Given the description of an element on the screen output the (x, y) to click on. 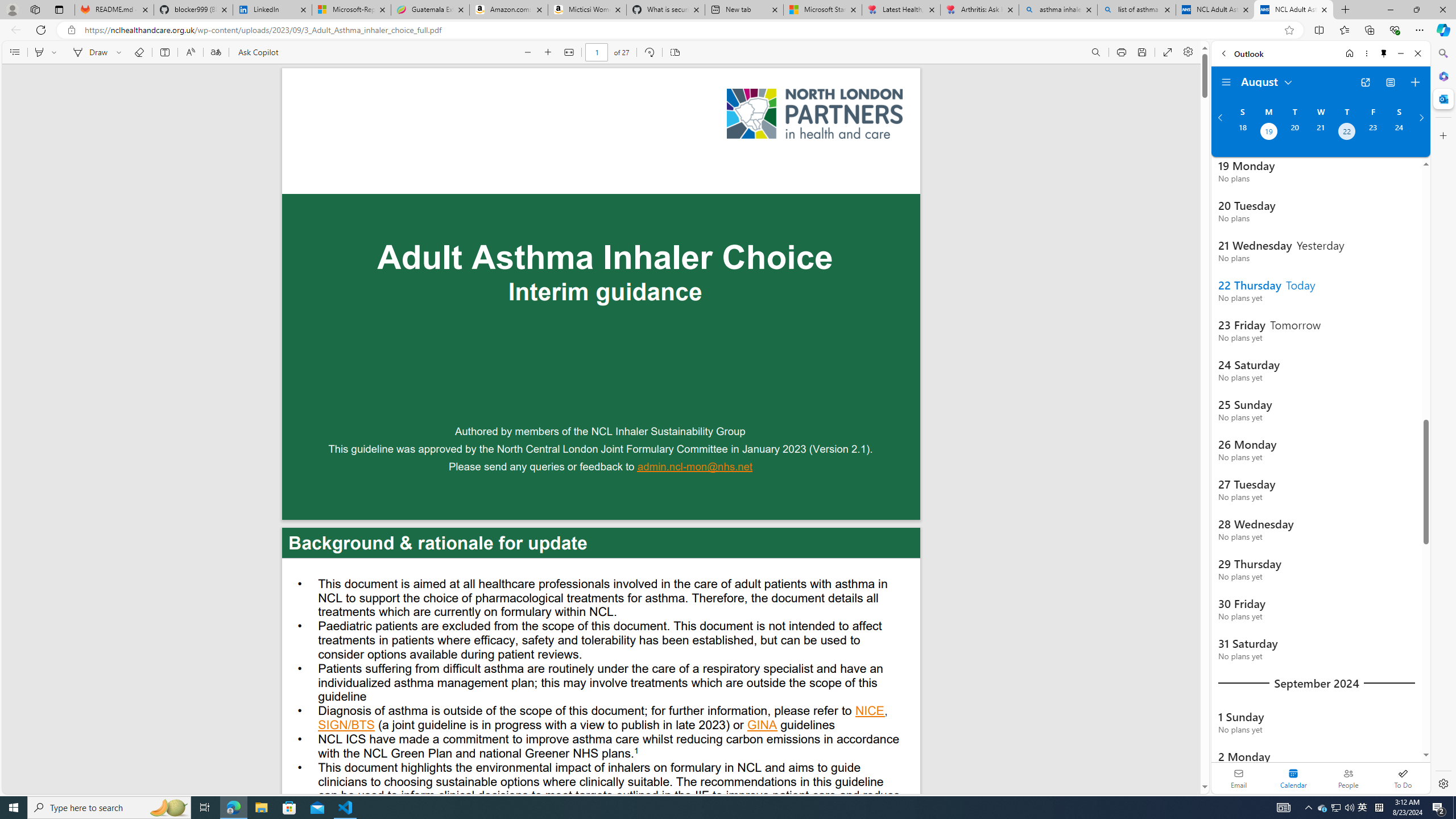
Fit to width (Ctrl+\) (569, 52)
LinkedIn (272, 9)
Zoom in (Ctrl+Plus key) (548, 52)
Wednesday, August 21, 2024.  (1320, 132)
Draw (88, 52)
Friday, August 23, 2024.  (1372, 132)
